Given the description of an element on the screen output the (x, y) to click on. 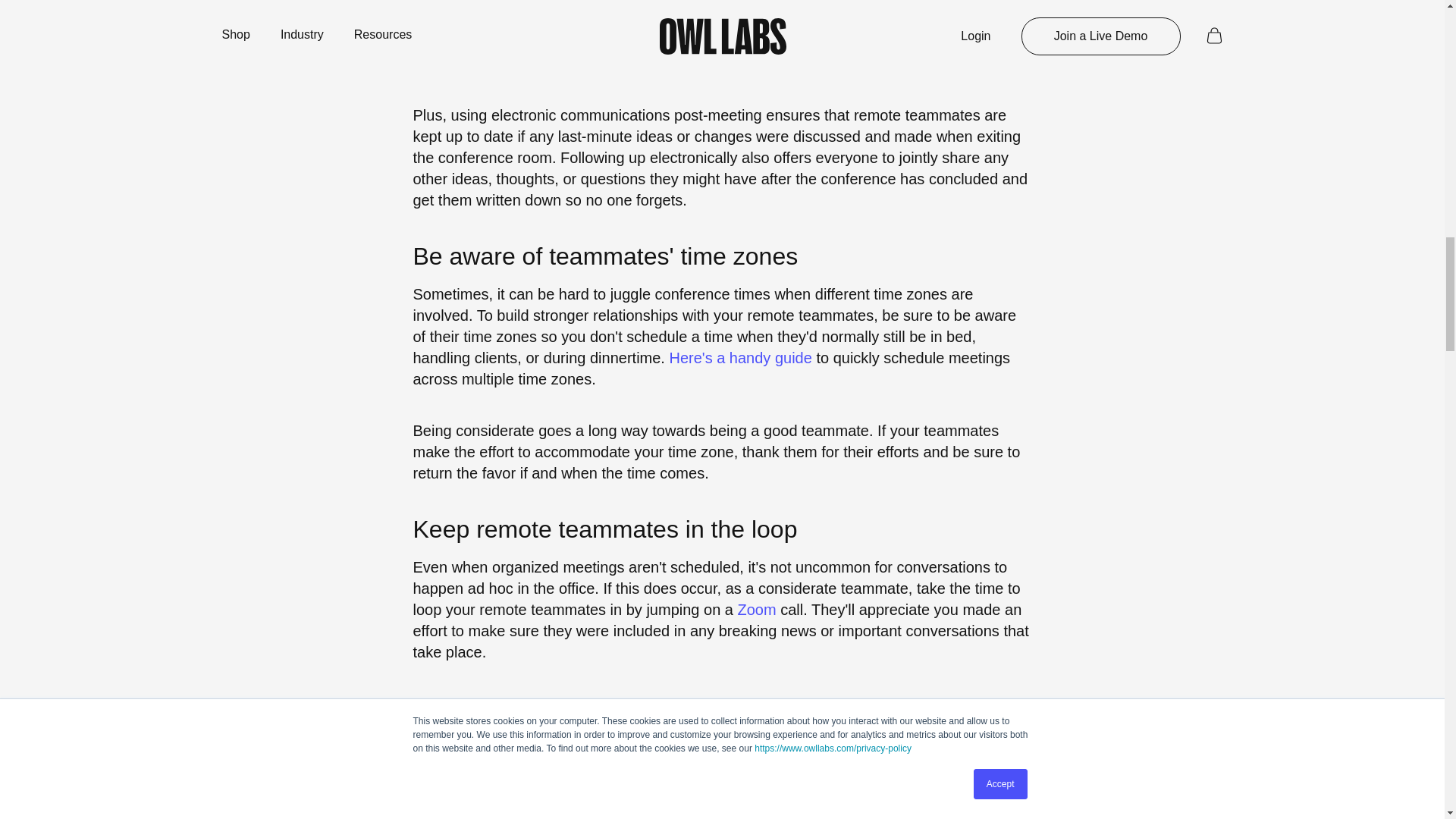
Google Hangouts (726, 21)
Slack (626, 21)
Here's a handy guide (739, 357)
Zoom (756, 609)
